Given the description of an element on the screen output the (x, y) to click on. 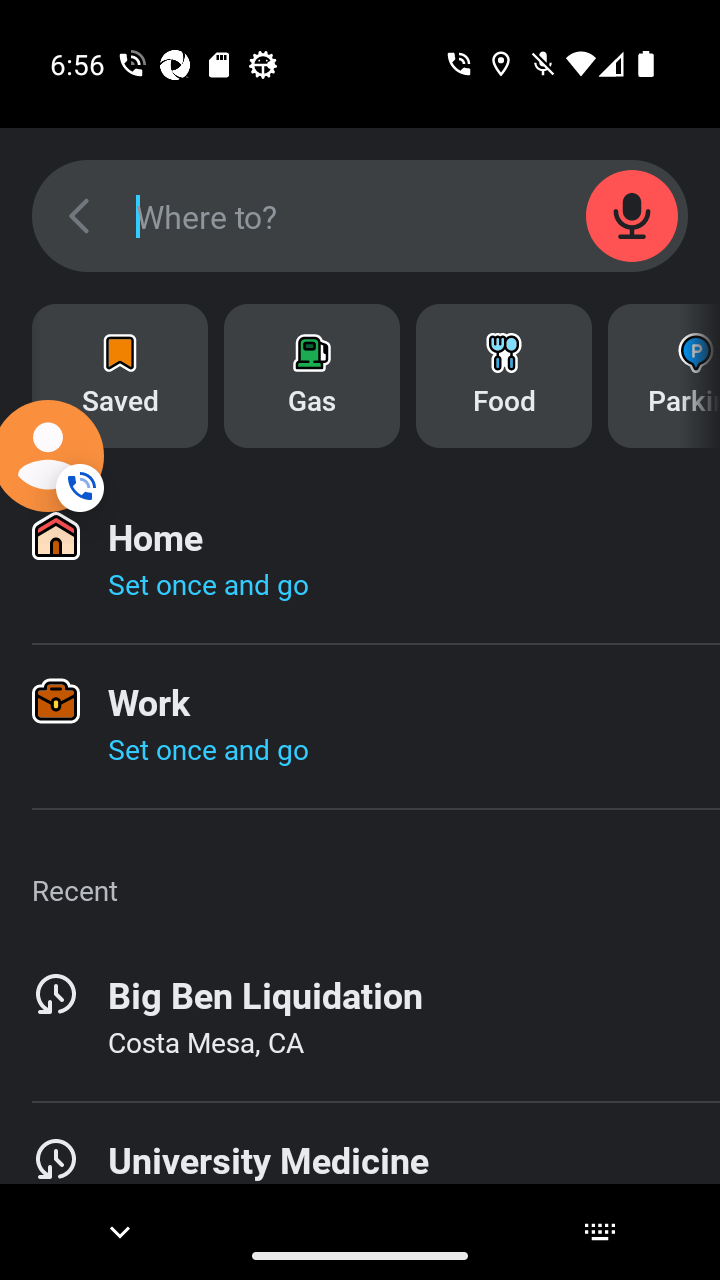
SEARCH_SCREEN_SEARCH_FIELD Where to? (359, 215)
Saved (119, 376)
Gas (311, 376)
Food (503, 376)
Parking (663, 376)
Home Set once and go (360, 561)
Work Set once and go (360, 726)
Big Ben Liquidation Costa Mesa, CA (360, 1019)
